Given the description of an element on the screen output the (x, y) to click on. 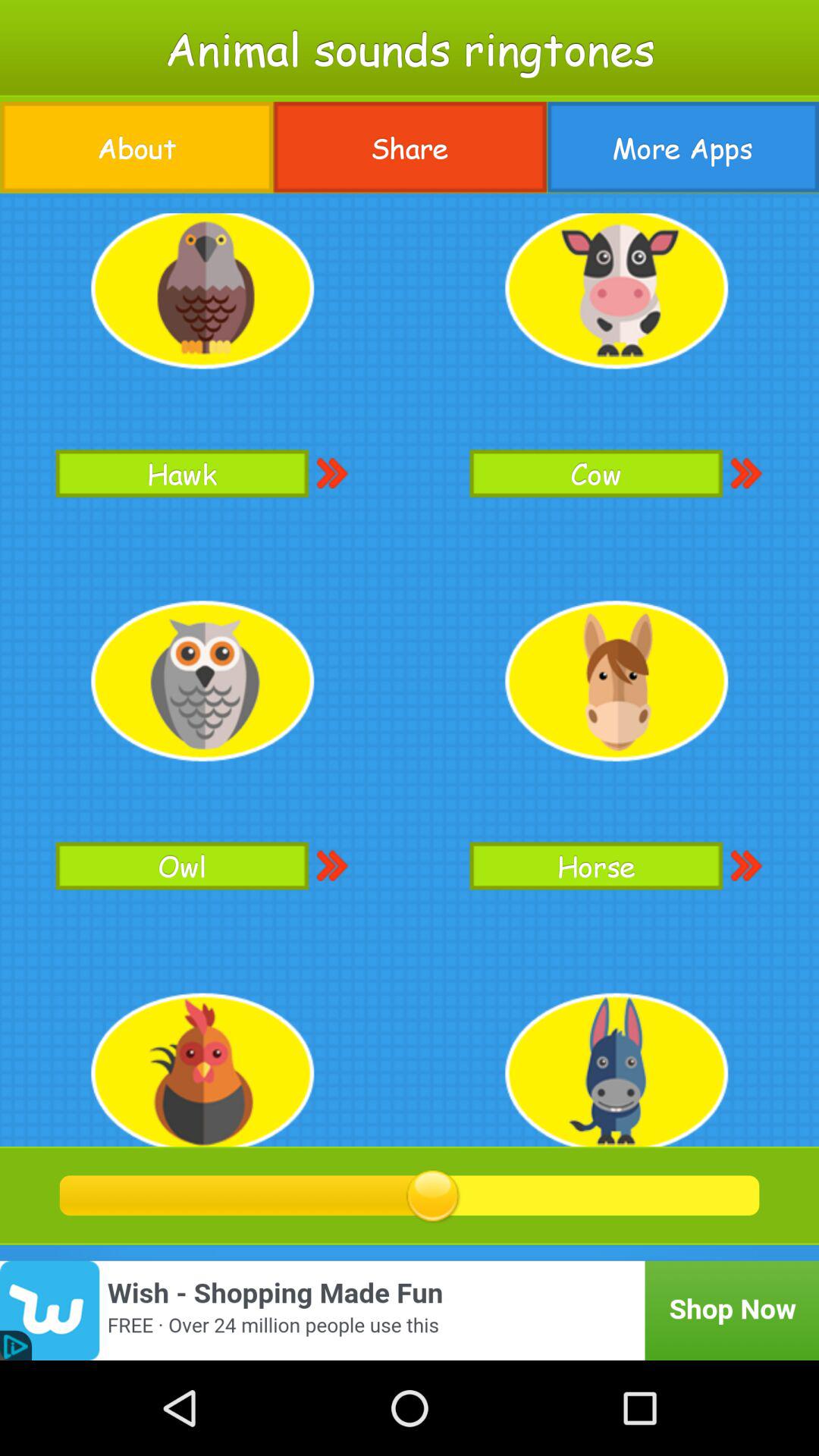
choose the button next to the share button (682, 147)
